Given the description of an element on the screen output the (x, y) to click on. 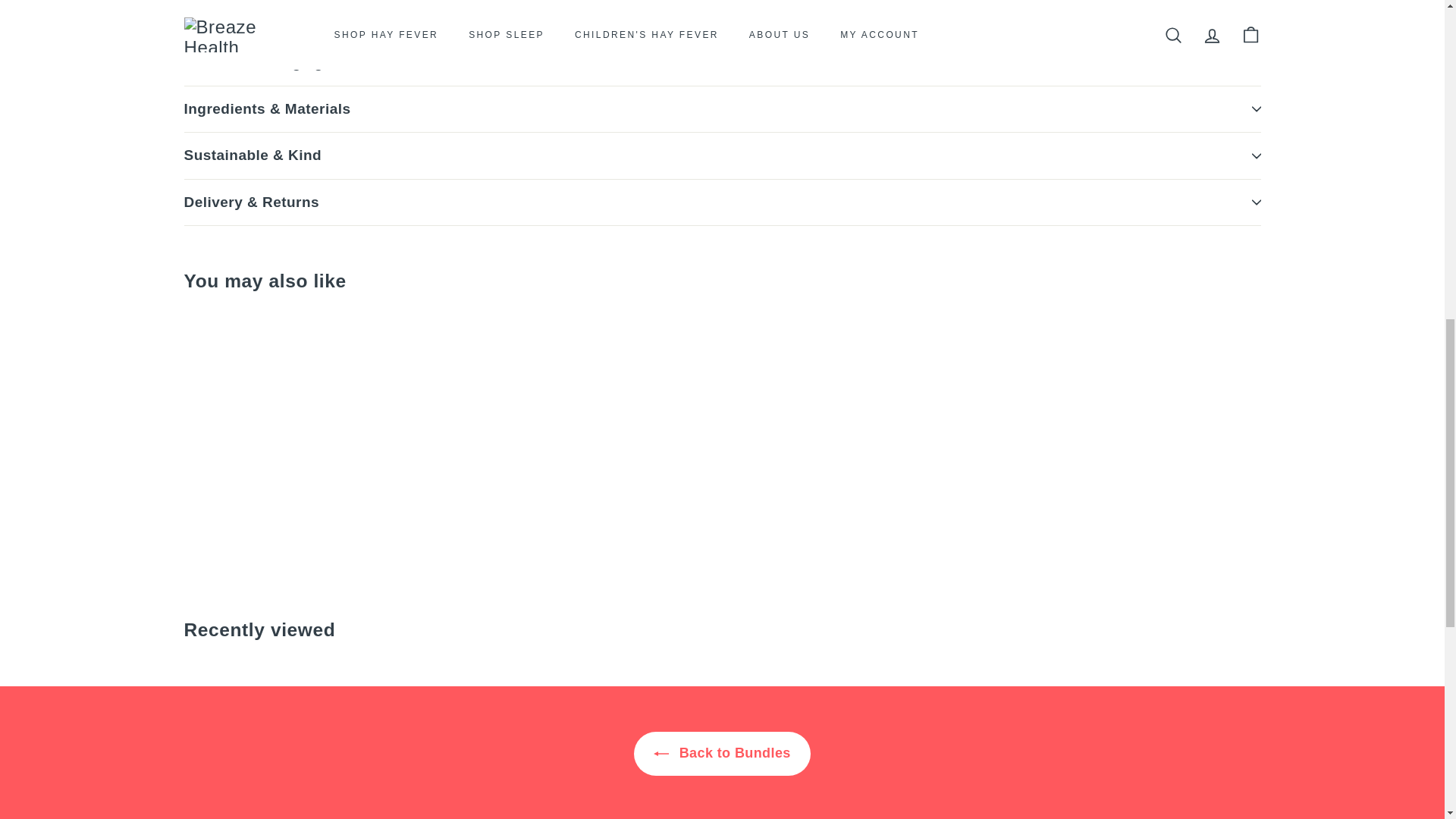
Aroma notes (721, 19)
icon-left-arrow (660, 753)
